Given the description of an element on the screen output the (x, y) to click on. 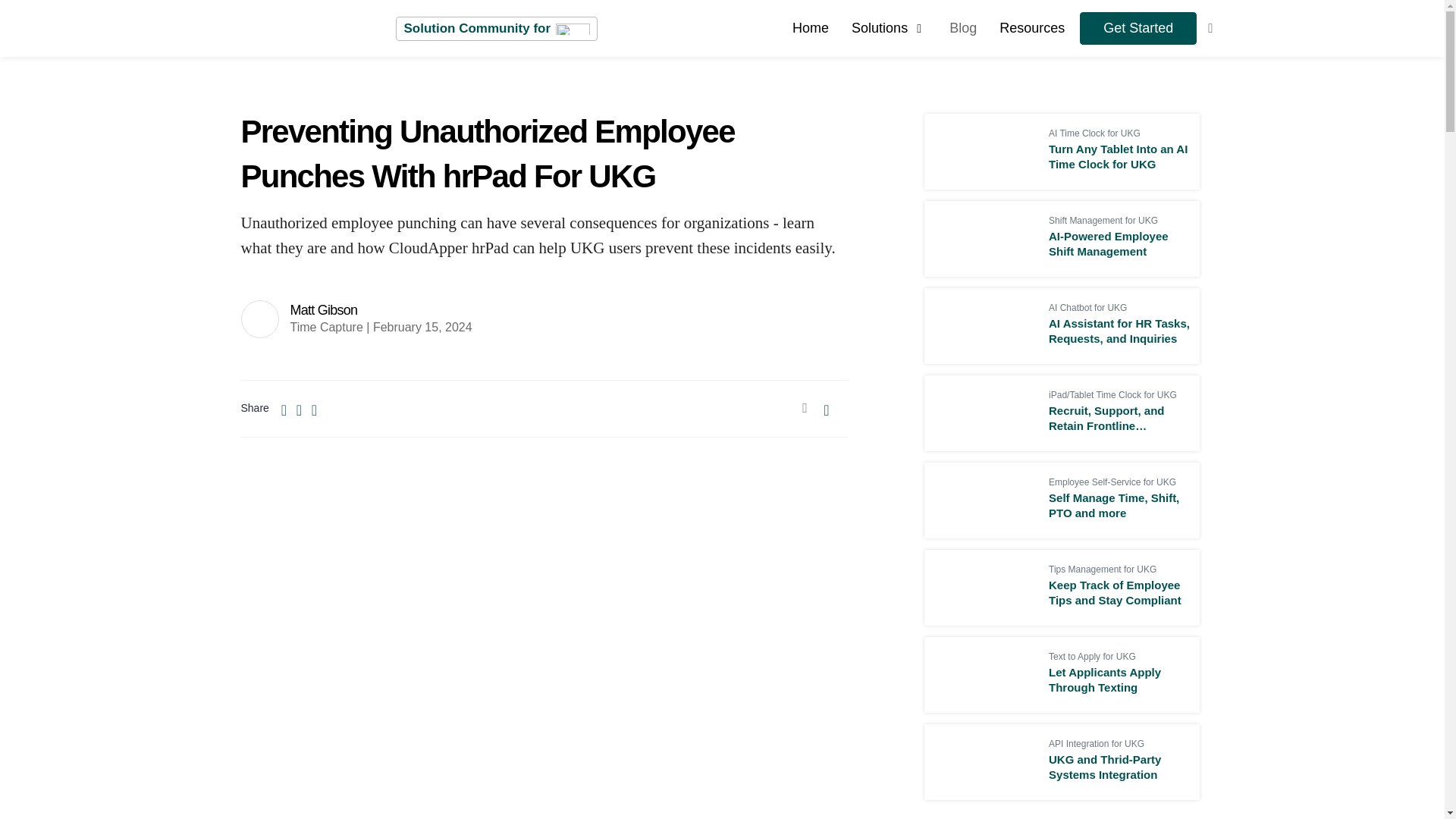
Resources (1031, 27)
CloudApper AI Solutions (888, 27)
Blog (962, 27)
Home (810, 27)
CloudApper AI (810, 27)
Get Started (1138, 28)
Solutions (888, 27)
